Given the description of an element on the screen output the (x, y) to click on. 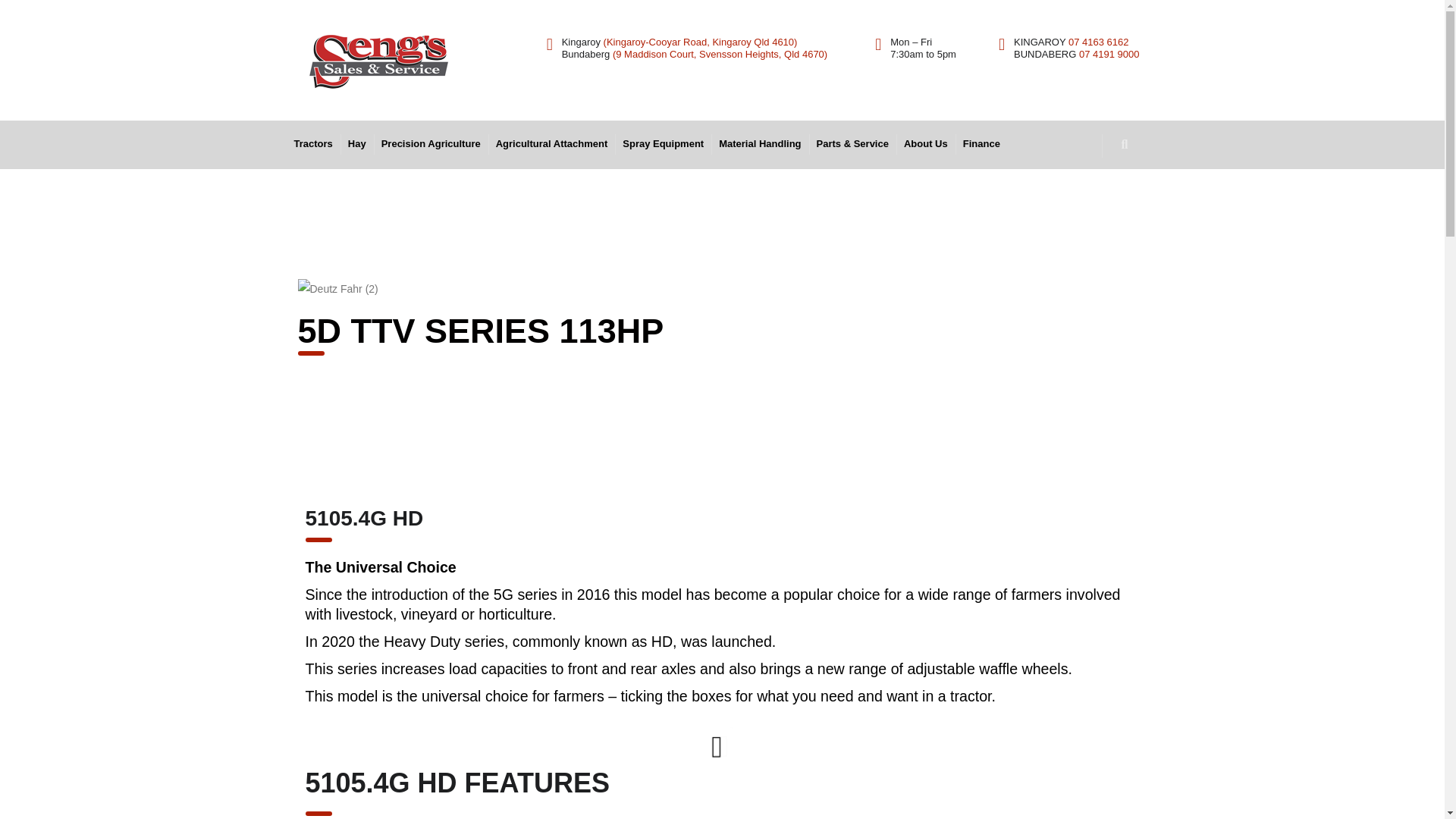
07 4191 9000 (1109, 53)
07 4163 6162 (1098, 41)
Tractors (313, 144)
